Given the description of an element on the screen output the (x, y) to click on. 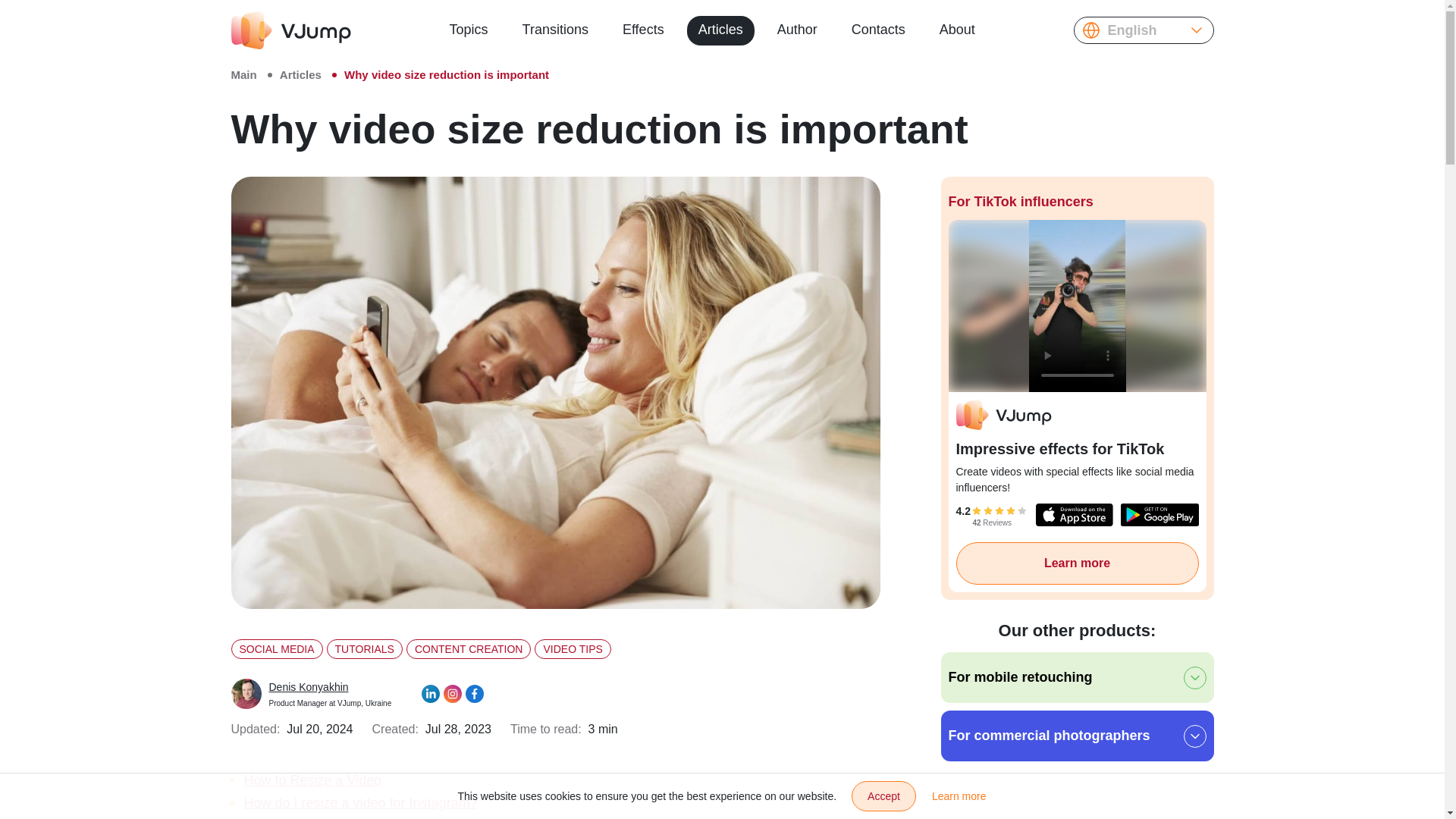
Transitions (555, 30)
TUTORIALS (364, 649)
Contacts (878, 30)
Effects (643, 30)
SOCIAL MEDIA (275, 649)
Articles (720, 30)
CONTENT CREATION (468, 649)
Articles (300, 74)
About (310, 693)
Main (957, 30)
VIDEO TIPS (243, 74)
Topics (572, 649)
Author (468, 30)
English (796, 30)
